Given the description of an element on the screen output the (x, y) to click on. 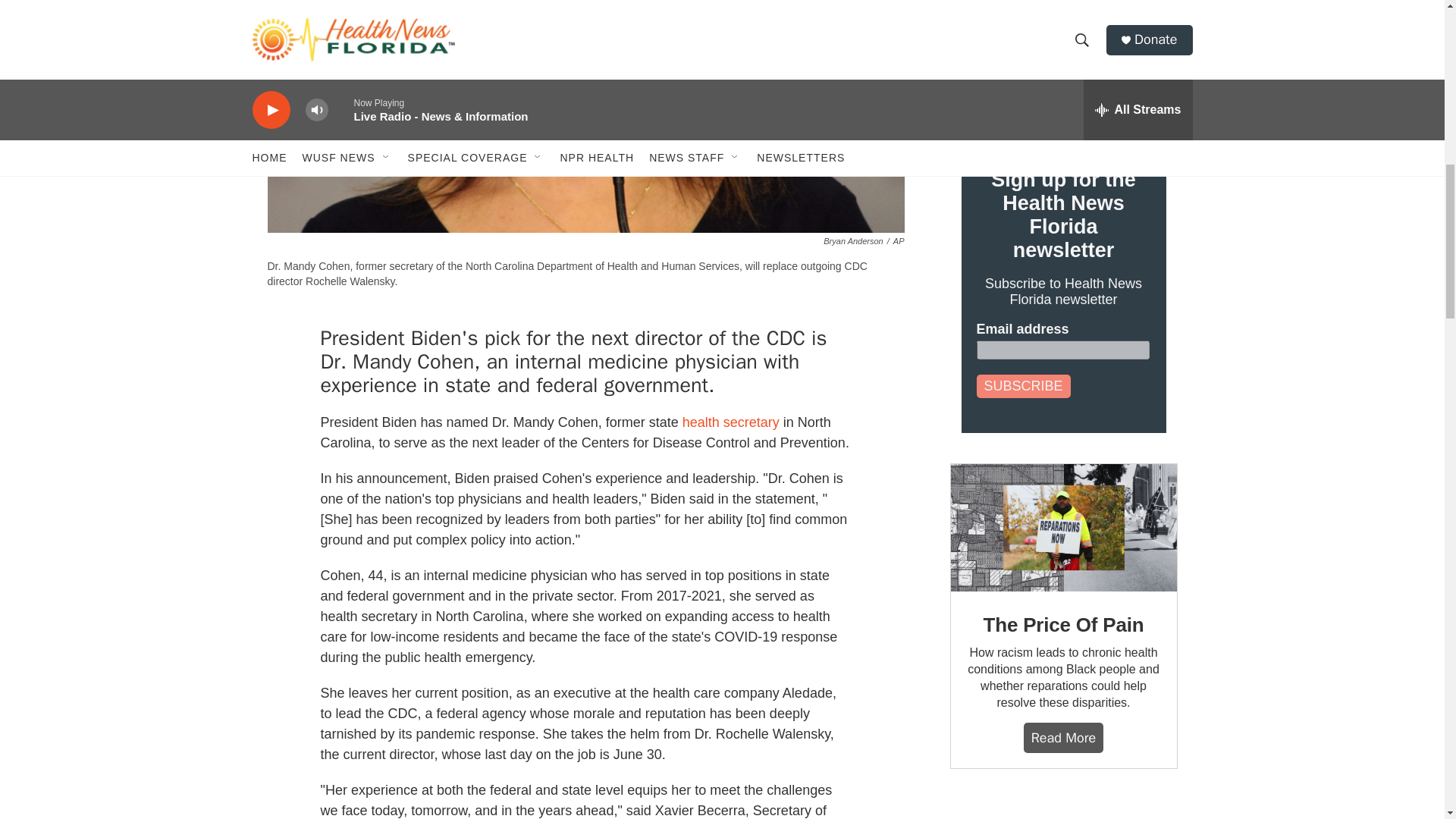
3rd party ad content (1062, 809)
